Given the description of an element on the screen output the (x, y) to click on. 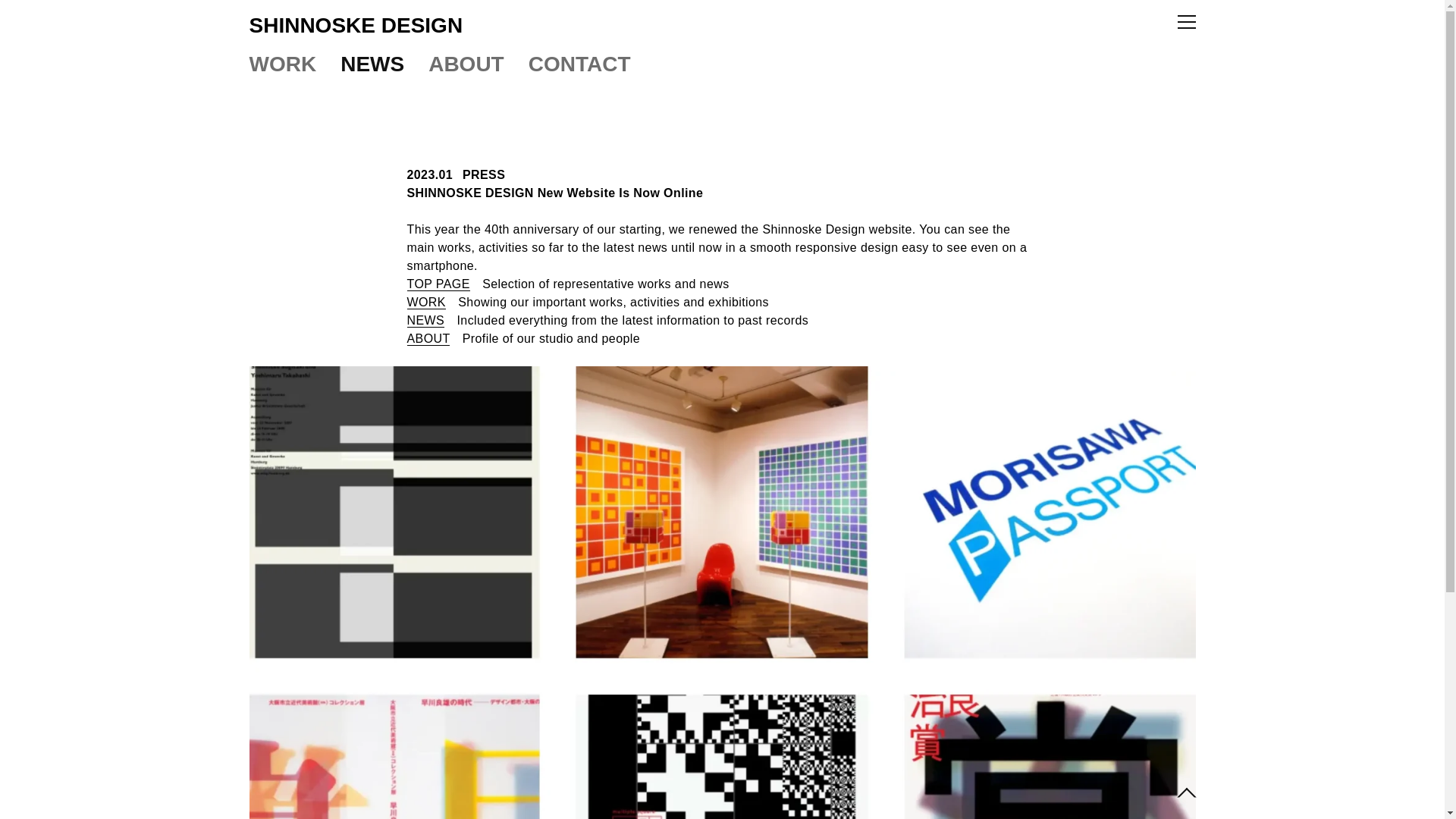
ABOUT (465, 64)
PRESS (484, 175)
NEWS (372, 64)
ABOUT (427, 338)
TOP PAGE (437, 284)
NEWS (425, 320)
SHINNOSKE DESIGN (355, 25)
CONTACT (579, 64)
WORK (425, 302)
WORK (281, 64)
